Given the description of an element on the screen output the (x, y) to click on. 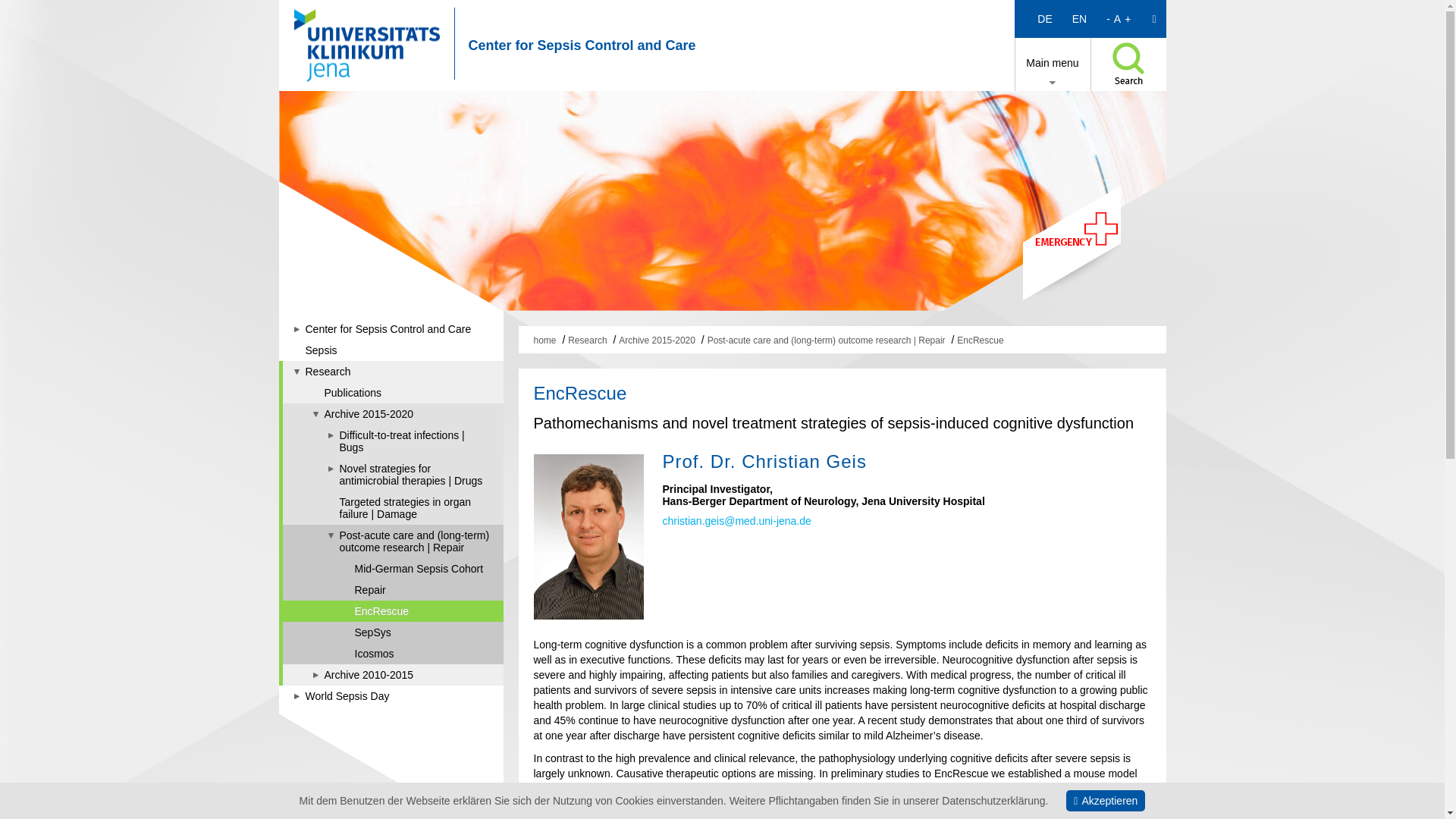
Main menu (1052, 62)
DE (1044, 18)
Center for Sepsis Control and Care (581, 45)
EN (1079, 18)
